Given the description of an element on the screen output the (x, y) to click on. 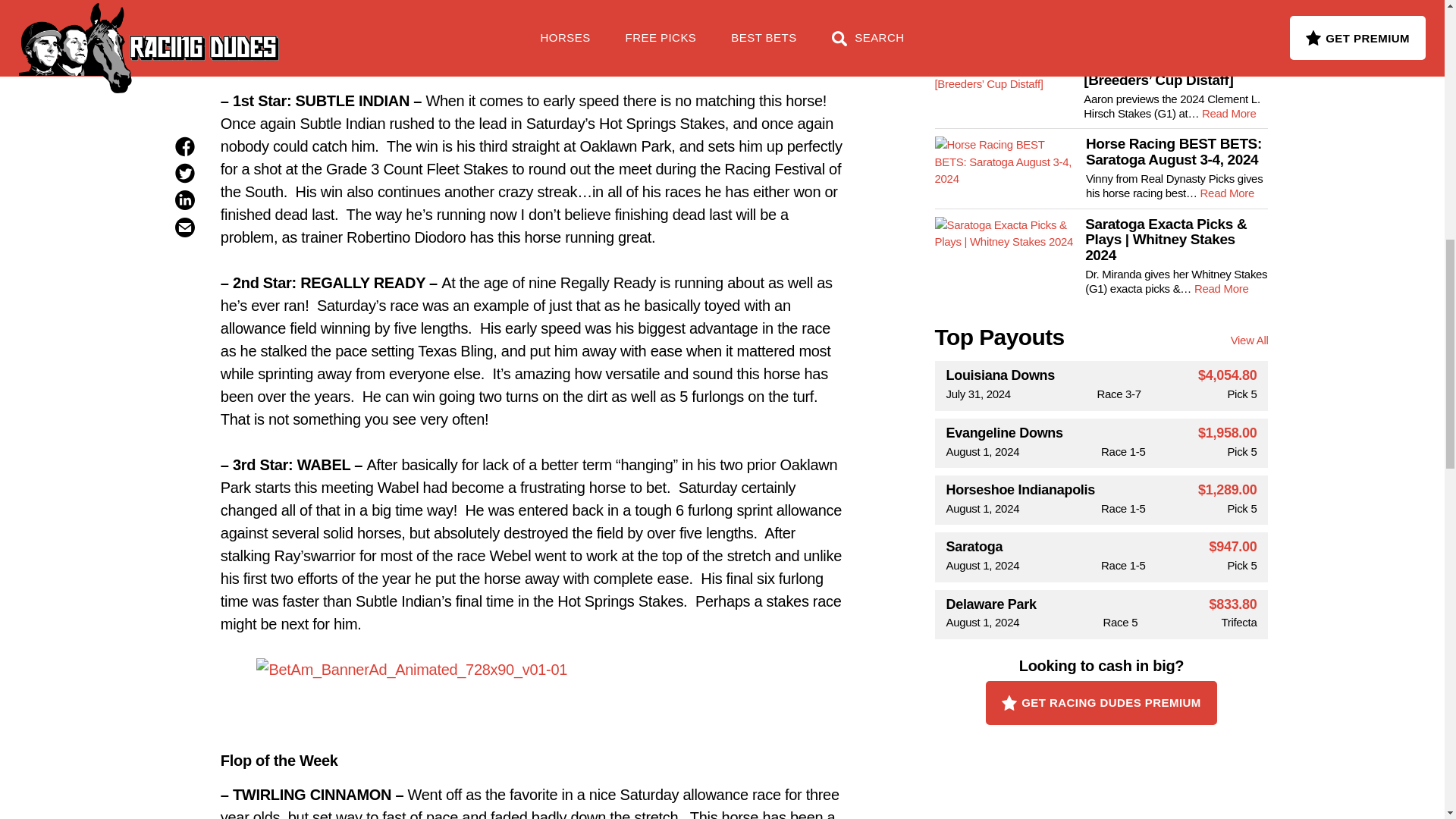
Posts by Aaron Halterman (512, 4)
